Given the description of an element on the screen output the (x, y) to click on. 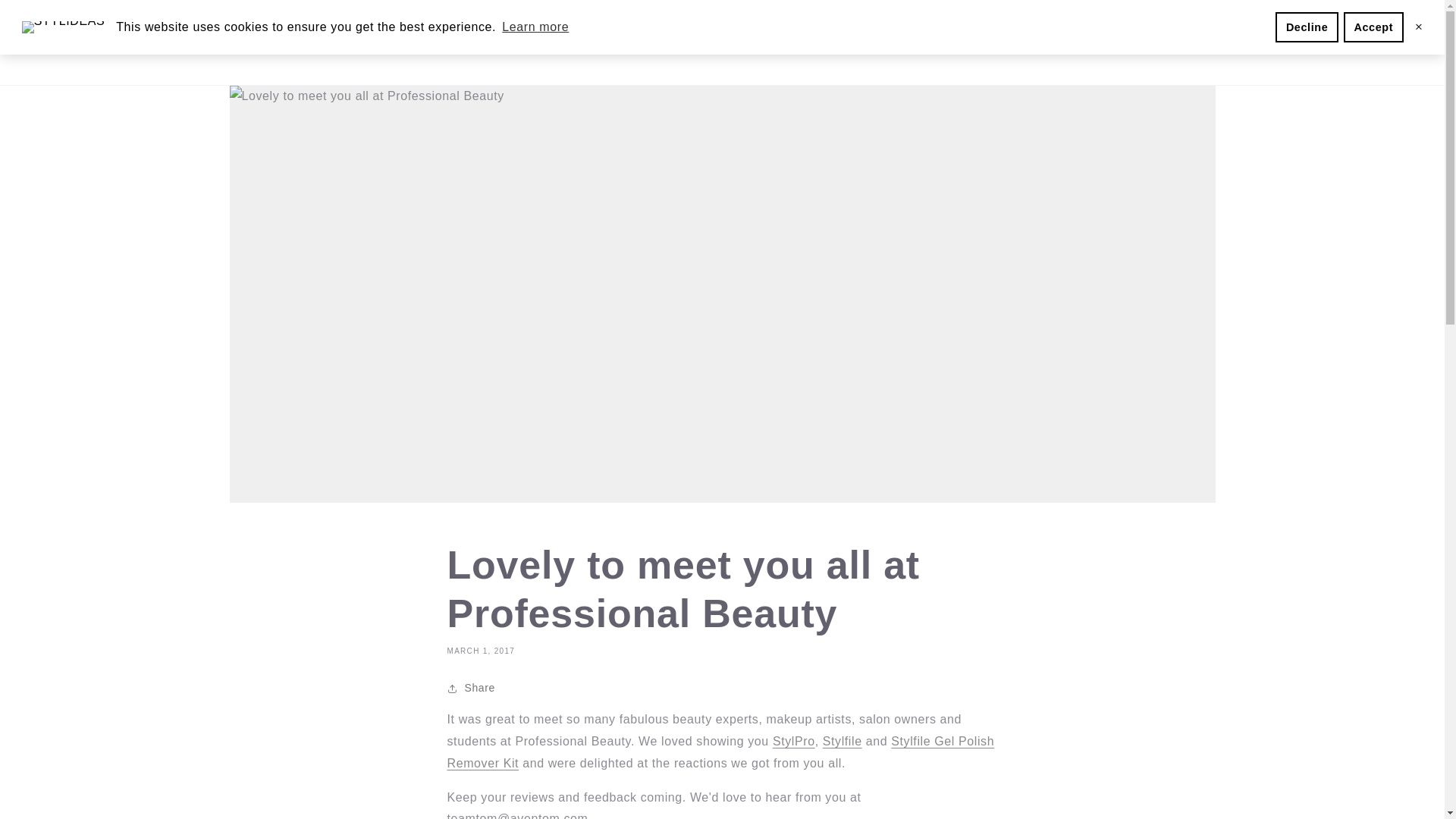
StylPro makeup brush cleaner and dryer (794, 740)
Decline (1306, 27)
Home (463, 42)
Skip to content (45, 16)
Stylfile Gel Polish Remover Kit (720, 751)
Learn more (534, 26)
Accept (1373, 27)
Stylfile nail care range (841, 740)
